Given the description of an element on the screen output the (x, y) to click on. 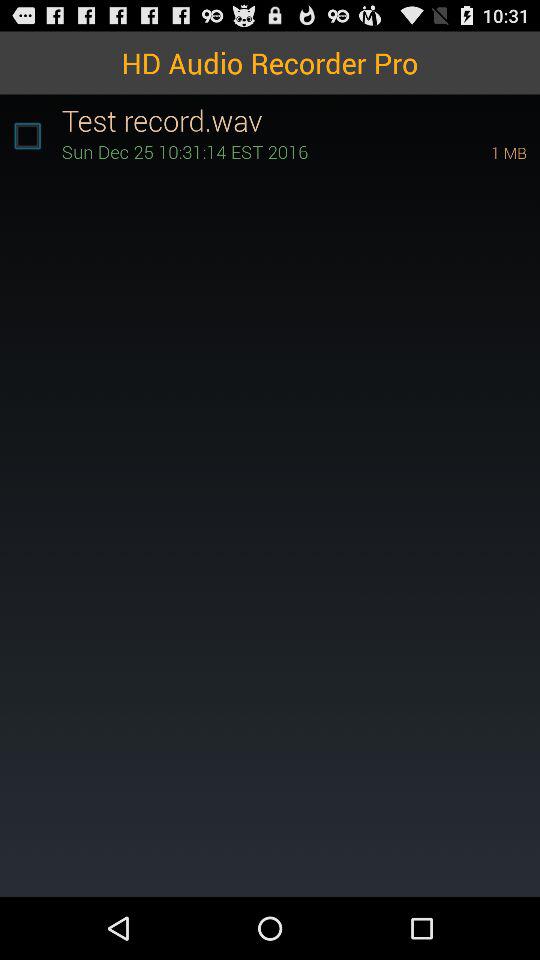
play option (27, 136)
